Given the description of an element on the screen output the (x, y) to click on. 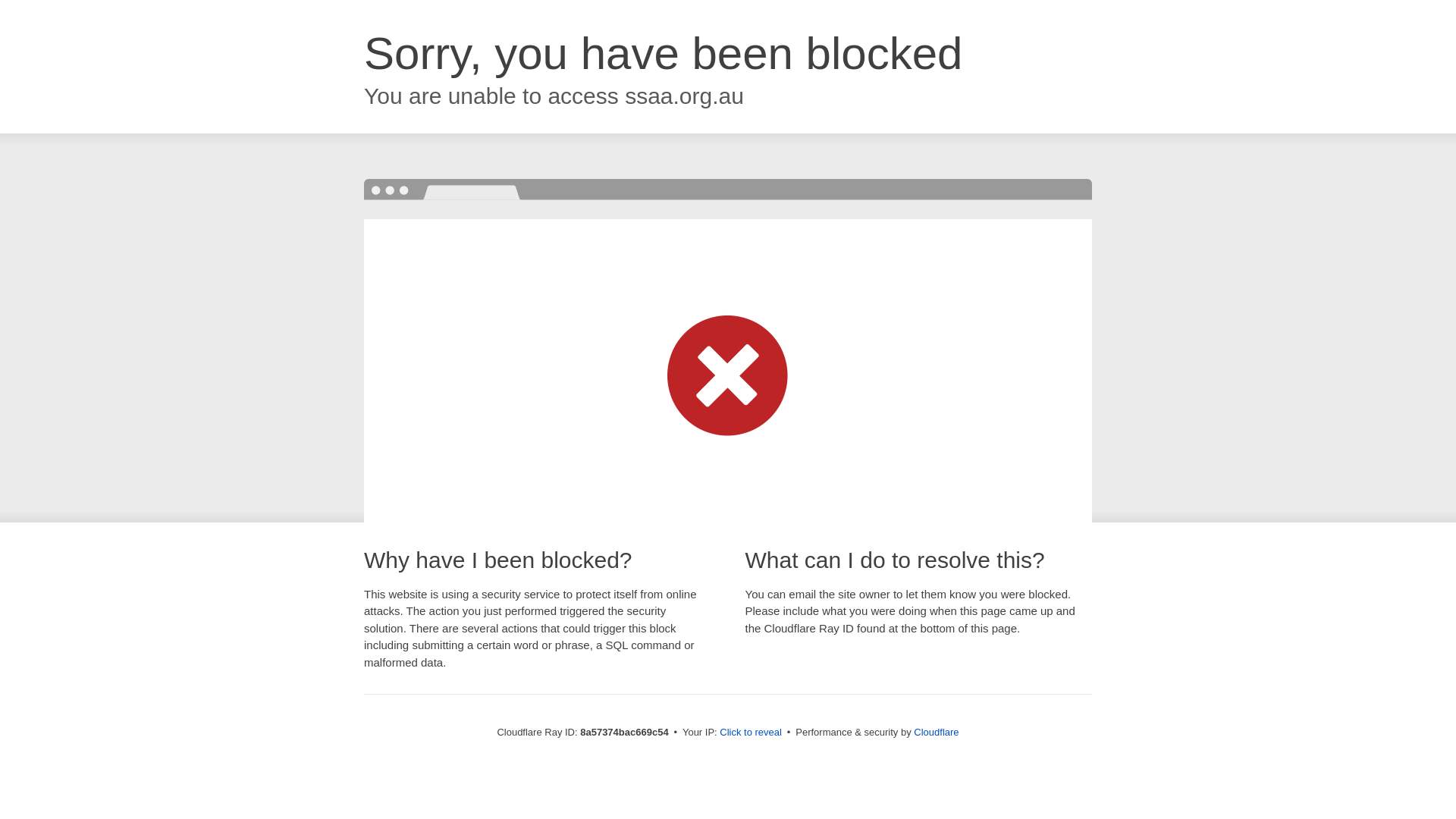
Click to reveal (750, 732)
Cloudflare (936, 731)
